Given the description of an element on the screen output the (x, y) to click on. 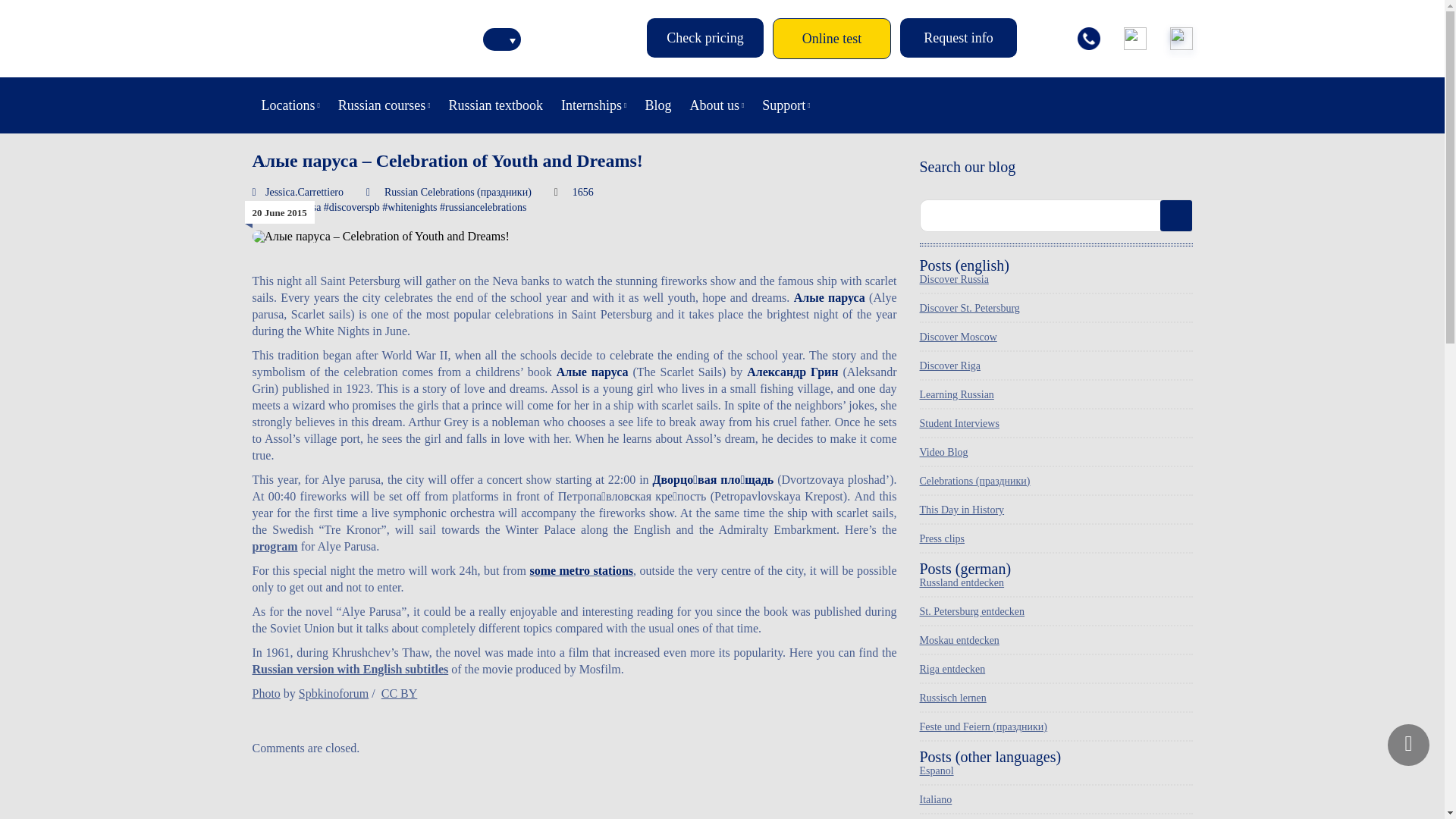
Online test (832, 38)
Search (1176, 215)
Russian courses (384, 104)
Request info (957, 37)
Check pricing (704, 37)
Locations (290, 104)
